Given the description of an element on the screen output the (x, y) to click on. 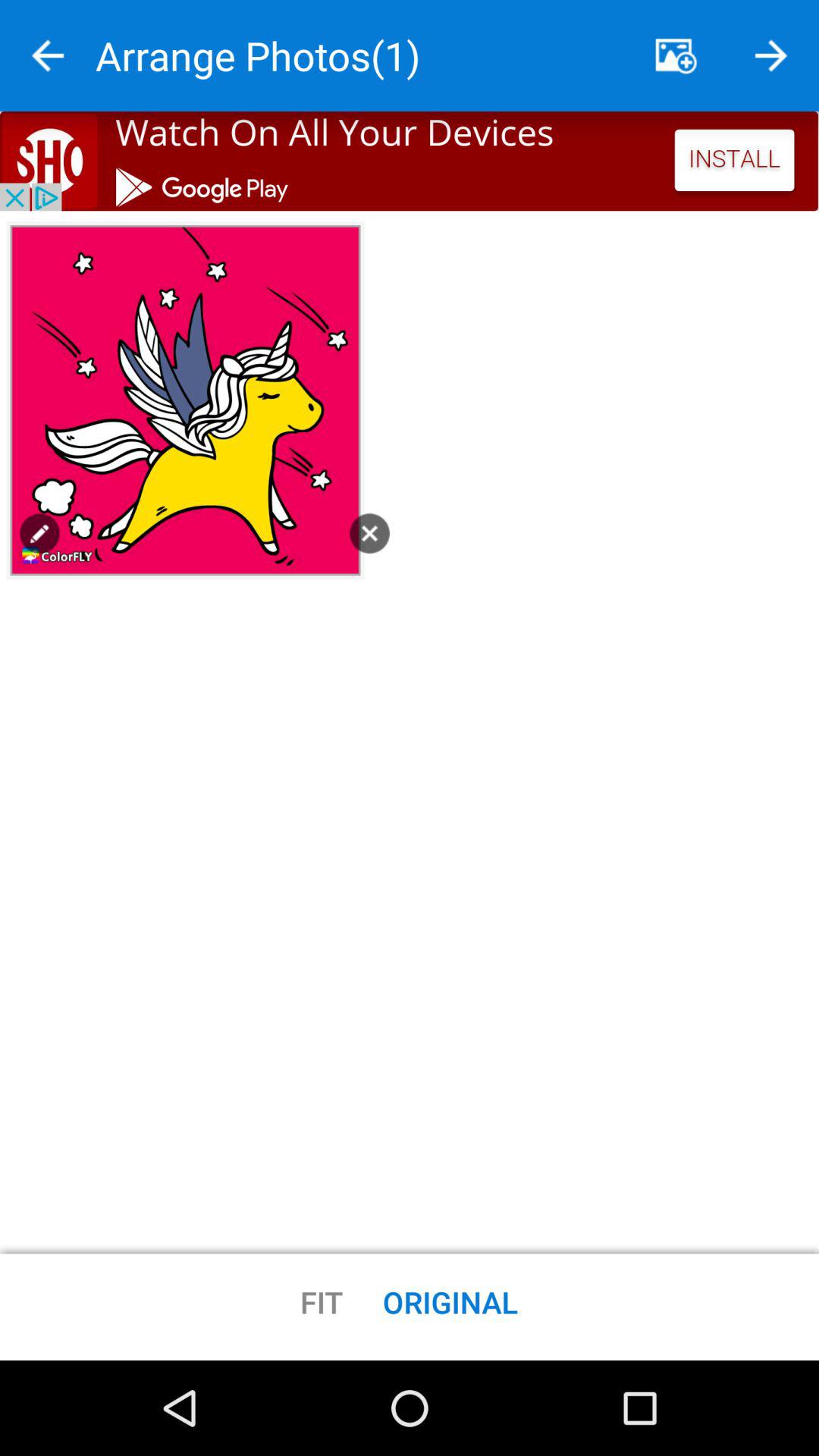
advertisement page (409, 161)
